Given the description of an element on the screen output the (x, y) to click on. 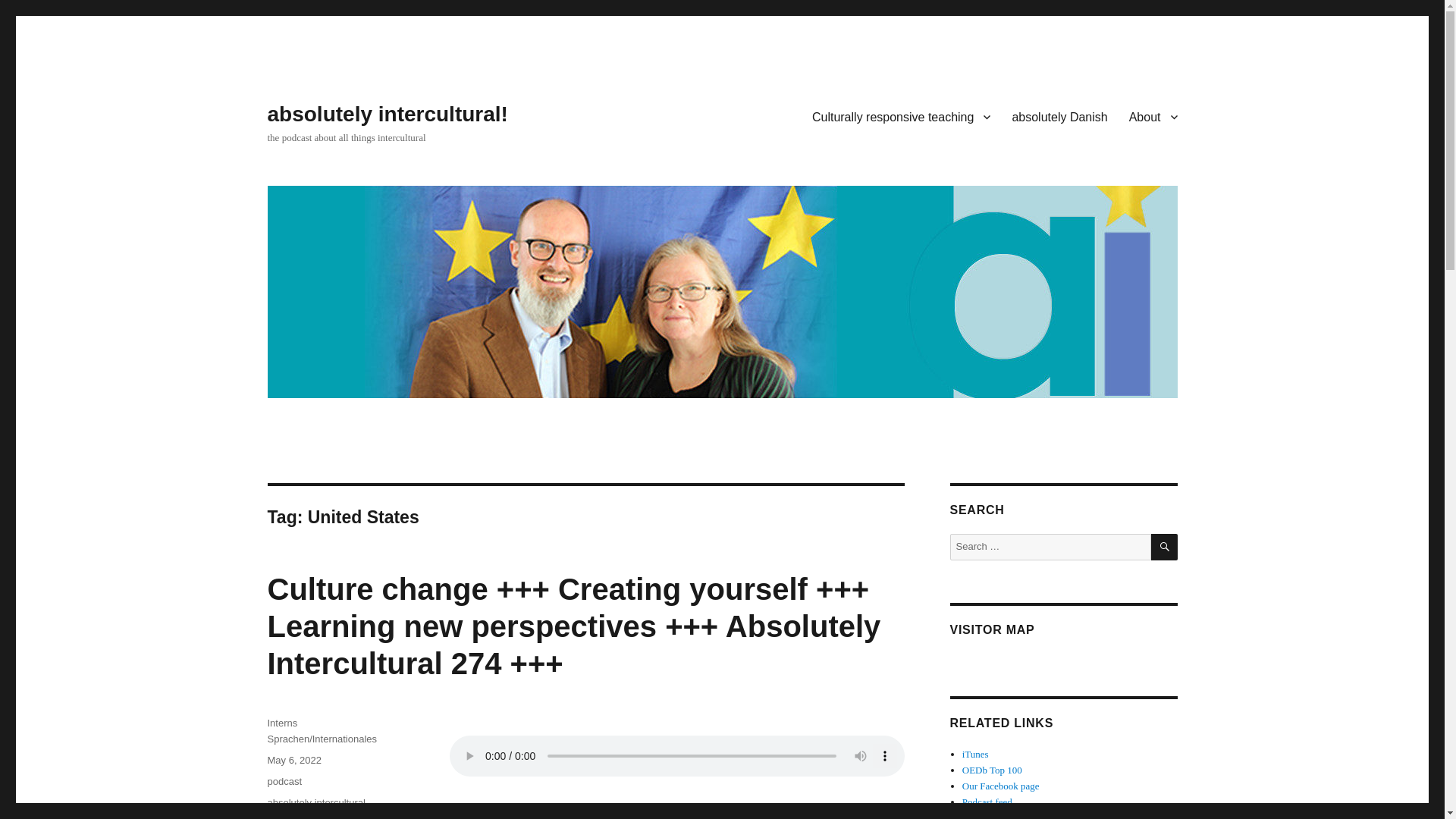
absolutely intercultural! (386, 114)
Australia (329, 816)
absolutely intercultural (315, 802)
May 6, 2022 (293, 759)
Carlos Fuch (323, 816)
Mention (992, 769)
Culturally responsive teaching (901, 116)
adapting (285, 816)
podcast (283, 781)
absolutely Danish (1059, 116)
The AI podcast facebook page (1000, 785)
About (1153, 116)
